Given the description of an element on the screen output the (x, y) to click on. 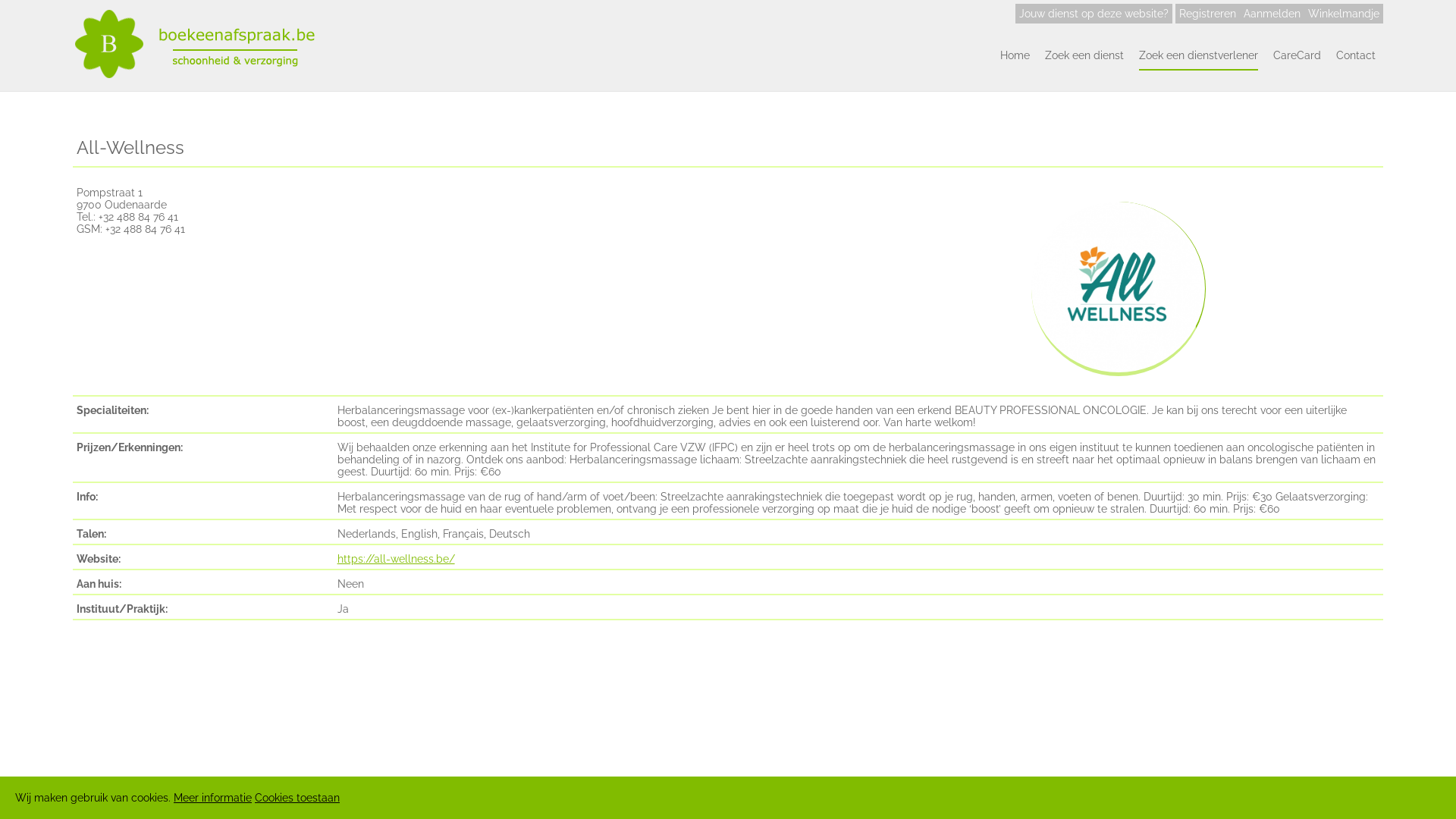
Meer informatie Element type: text (212, 797)
https://all-wellness.be/ Element type: text (396, 558)
Jouw dienst op deze website? Element type: text (1093, 13)
Home Element type: text (1014, 55)
Cookies toestaan Element type: text (296, 797)
Sitemap Element type: text (706, 787)
Zoek een dienst Element type: text (1083, 55)
Contact Element type: text (817, 787)
Adverteren Element type: text (762, 787)
Winkelmandje Element type: text (1343, 13)
Disclaimer Element type: text (564, 787)
FAQ Element type: text (608, 787)
Zoek een dienstverlener Element type: text (1198, 55)
CareCard Element type: text (1297, 55)
Registreren Element type: text (1207, 13)
Contact Element type: text (1355, 55)
Vacatures Element type: text (652, 787)
Aanmelden Element type: text (1271, 13)
Webdesign The Rising Castle Element type: text (919, 787)
